Given the description of an element on the screen output the (x, y) to click on. 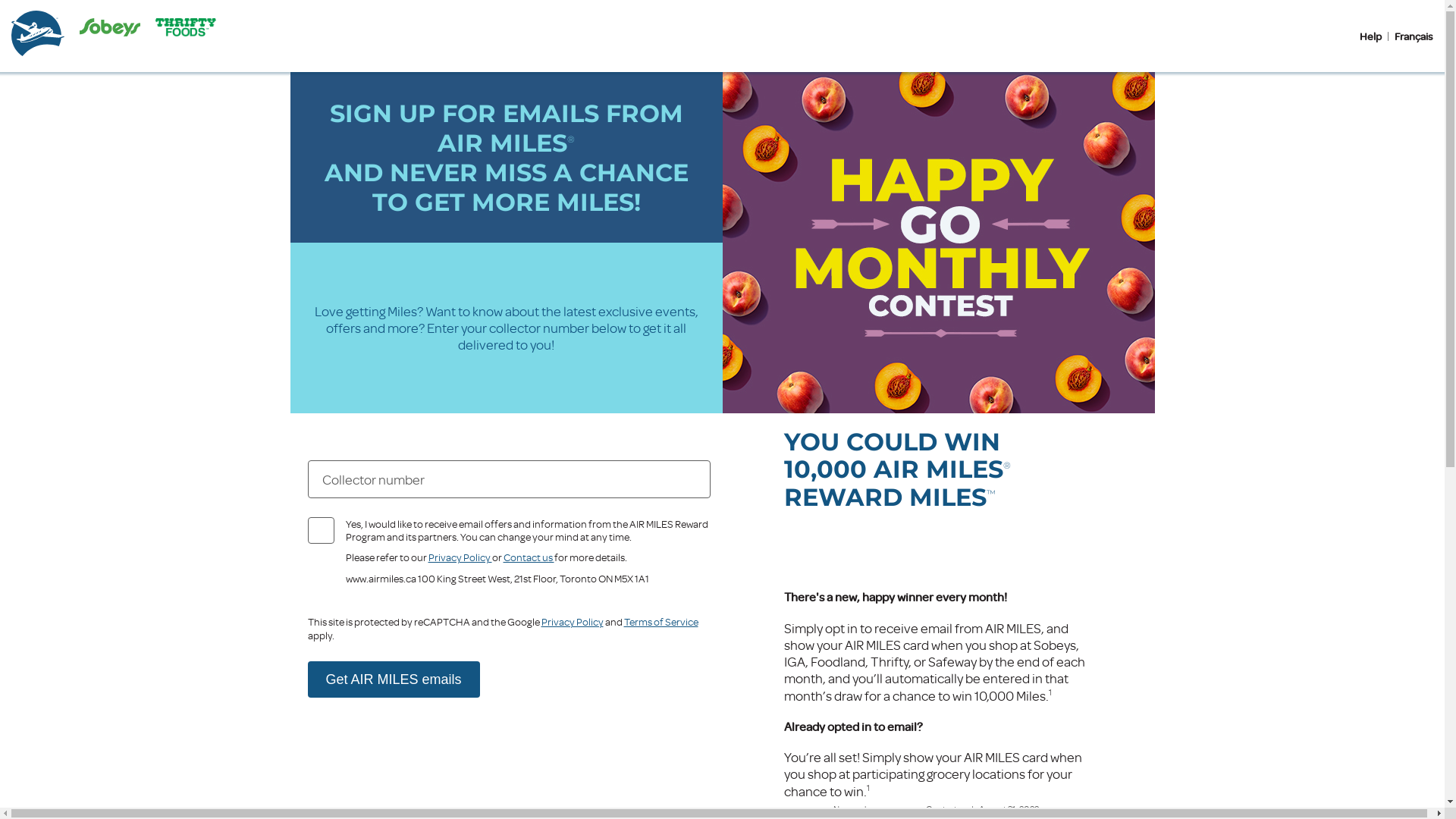
Terms of Service Element type: text (660, 621)
Contact us Element type: text (528, 556)
Privacy Policy Element type: text (459, 556)
Privacy Policy Element type: text (572, 621)
Get AIR MILES emails Element type: text (393, 679)
Skip to content Element type: text (43, 18)
Help Element type: text (1370, 36)
